Given the description of an element on the screen output the (x, y) to click on. 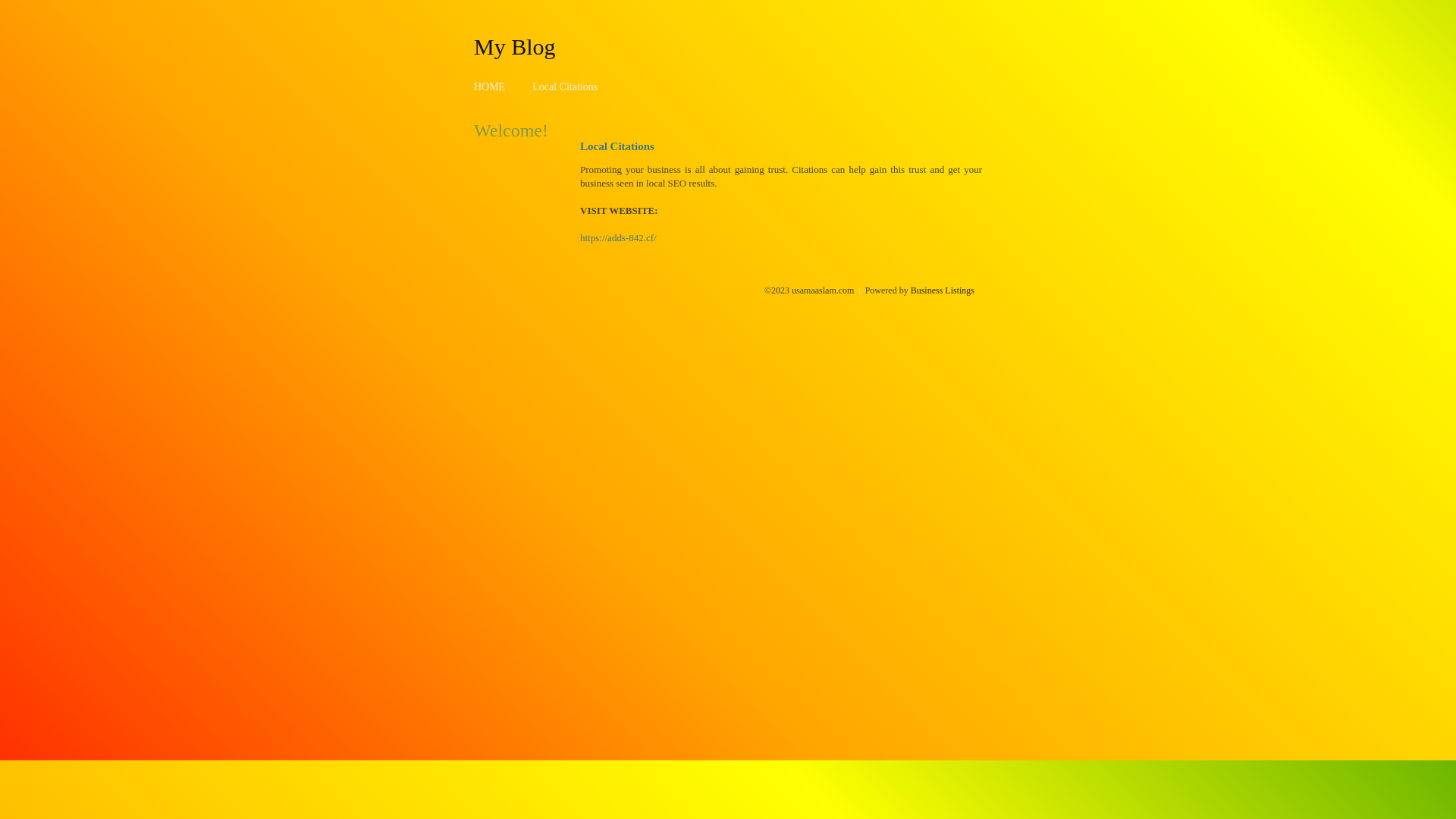
My Blog Element type: text (514, 46)
Local Citations Element type: text (564, 86)
Business Listings Element type: text (942, 290)
HOME Element type: text (489, 86)
https://adds-842.cf/ Element type: text (618, 237)
